Given the description of an element on the screen output the (x, y) to click on. 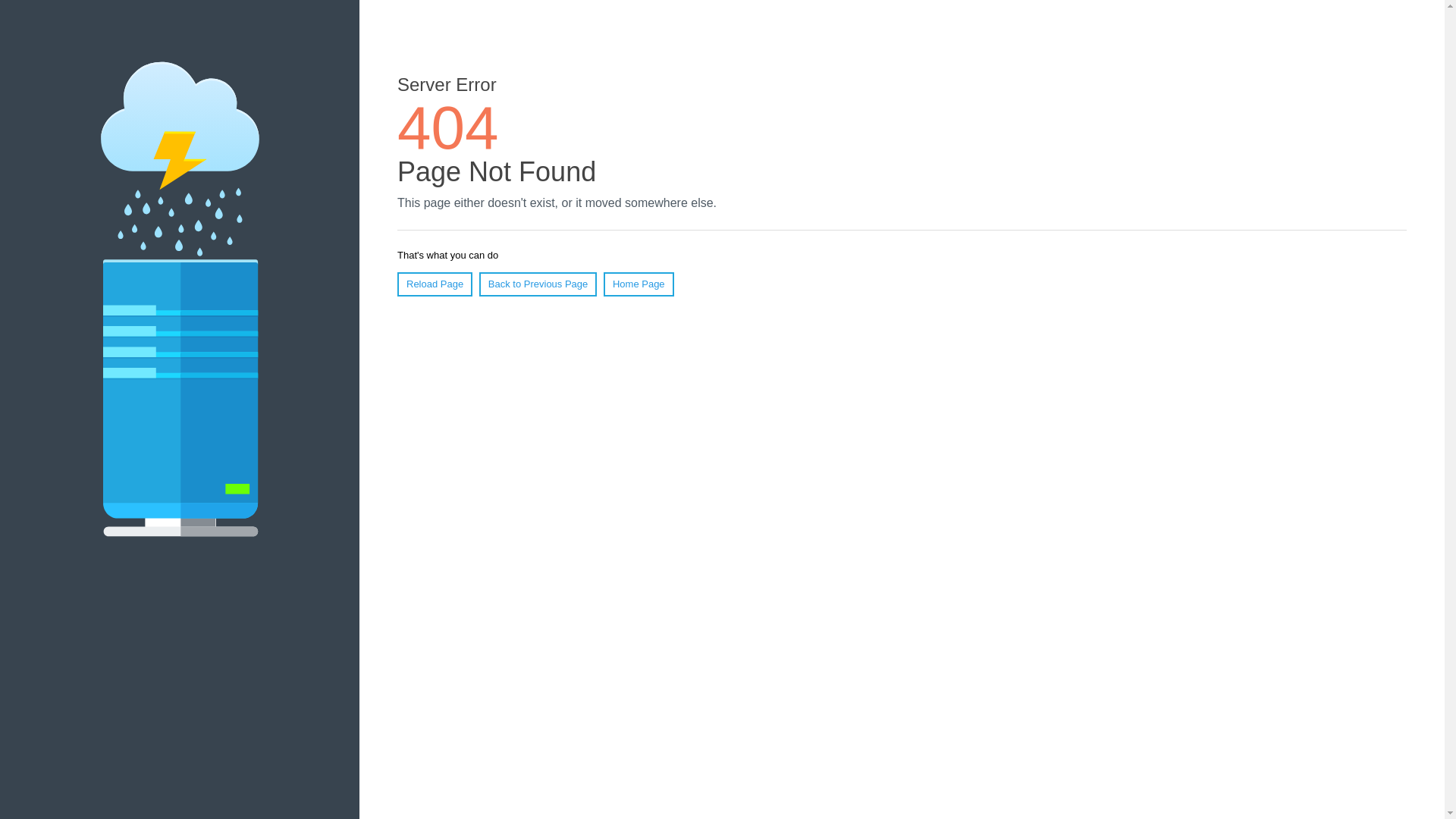
Home Page Element type: text (638, 284)
Reload Page Element type: text (434, 284)
Back to Previous Page Element type: text (538, 284)
